Given the description of an element on the screen output the (x, y) to click on. 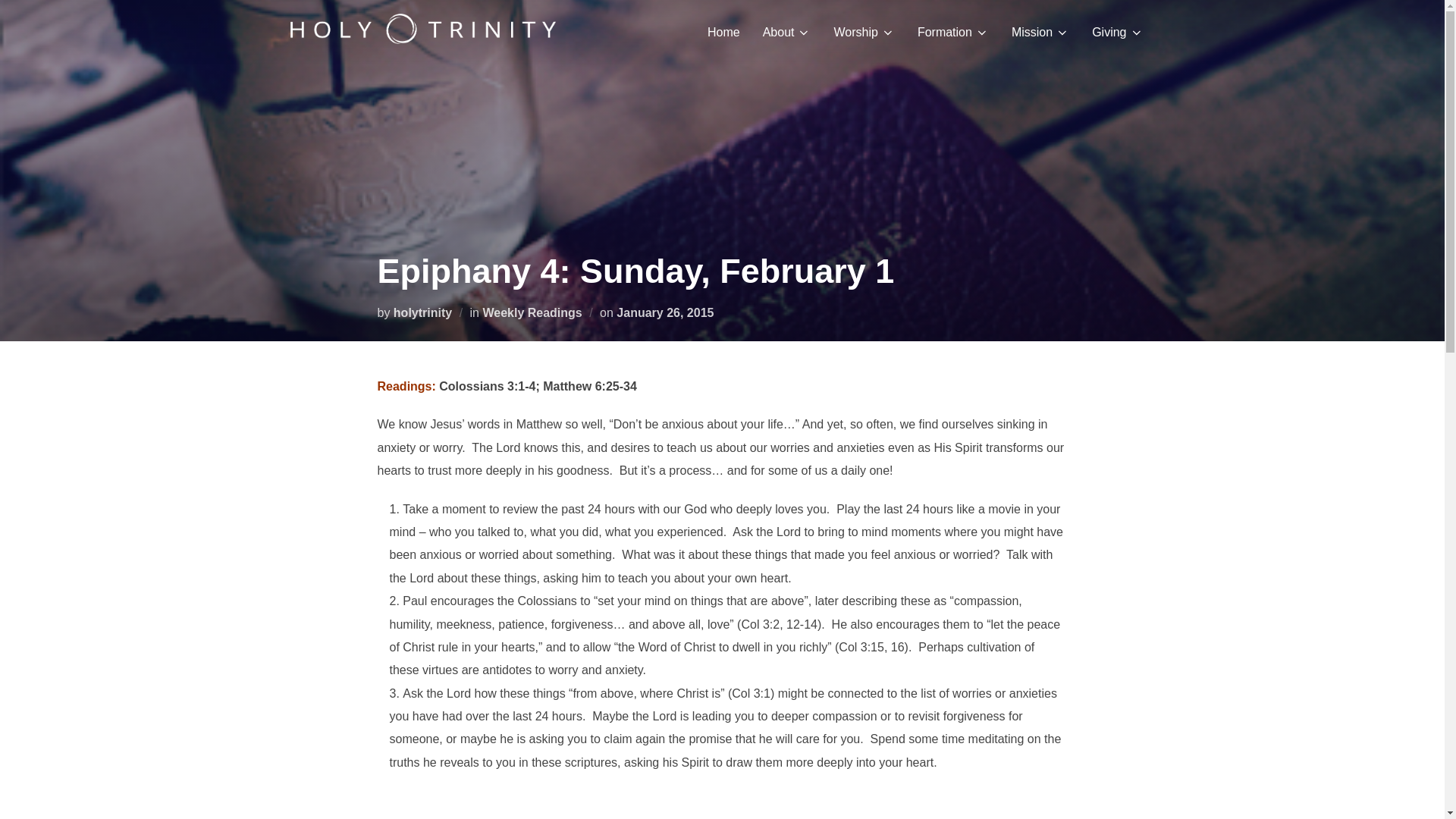
Worship (862, 32)
Home (723, 32)
About (786, 32)
Formation (952, 32)
